Given the description of an element on the screen output the (x, y) to click on. 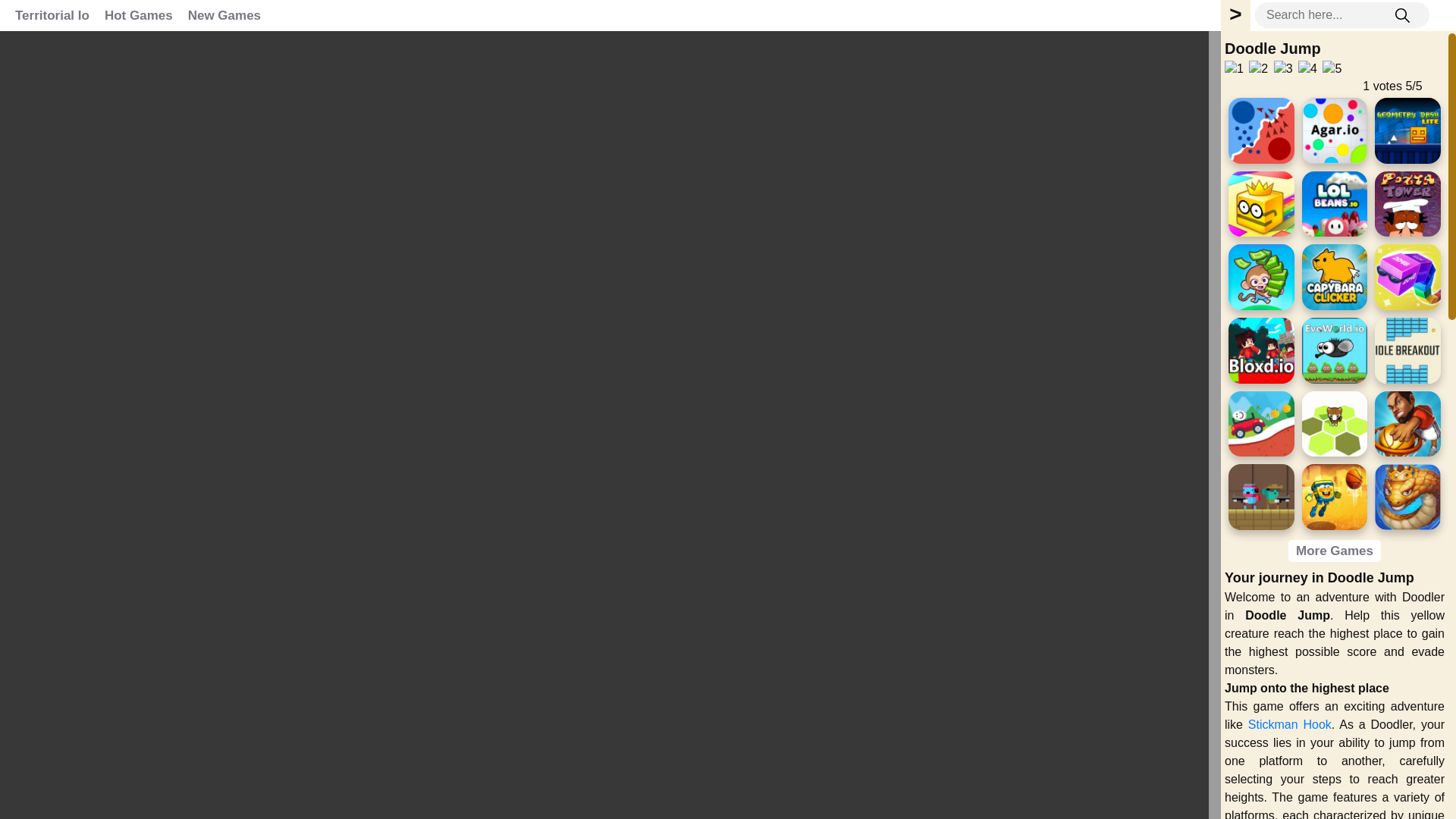
Geometry Dash Lite (1407, 130)
regular (1283, 68)
Bloxd.io (1261, 350)
Lolbeans (1334, 204)
gorgeous (1331, 68)
Eggy Car (1261, 424)
Idle Breakout (1407, 350)
EvoWorld.io (1334, 350)
poor (1258, 68)
Trap The Cat (1334, 424)
bad (1233, 68)
More Games (1334, 550)
Pizza Tower (1407, 204)
State.io - Conquer The World (1261, 130)
good (1307, 68)
